Given the description of an element on the screen output the (x, y) to click on. 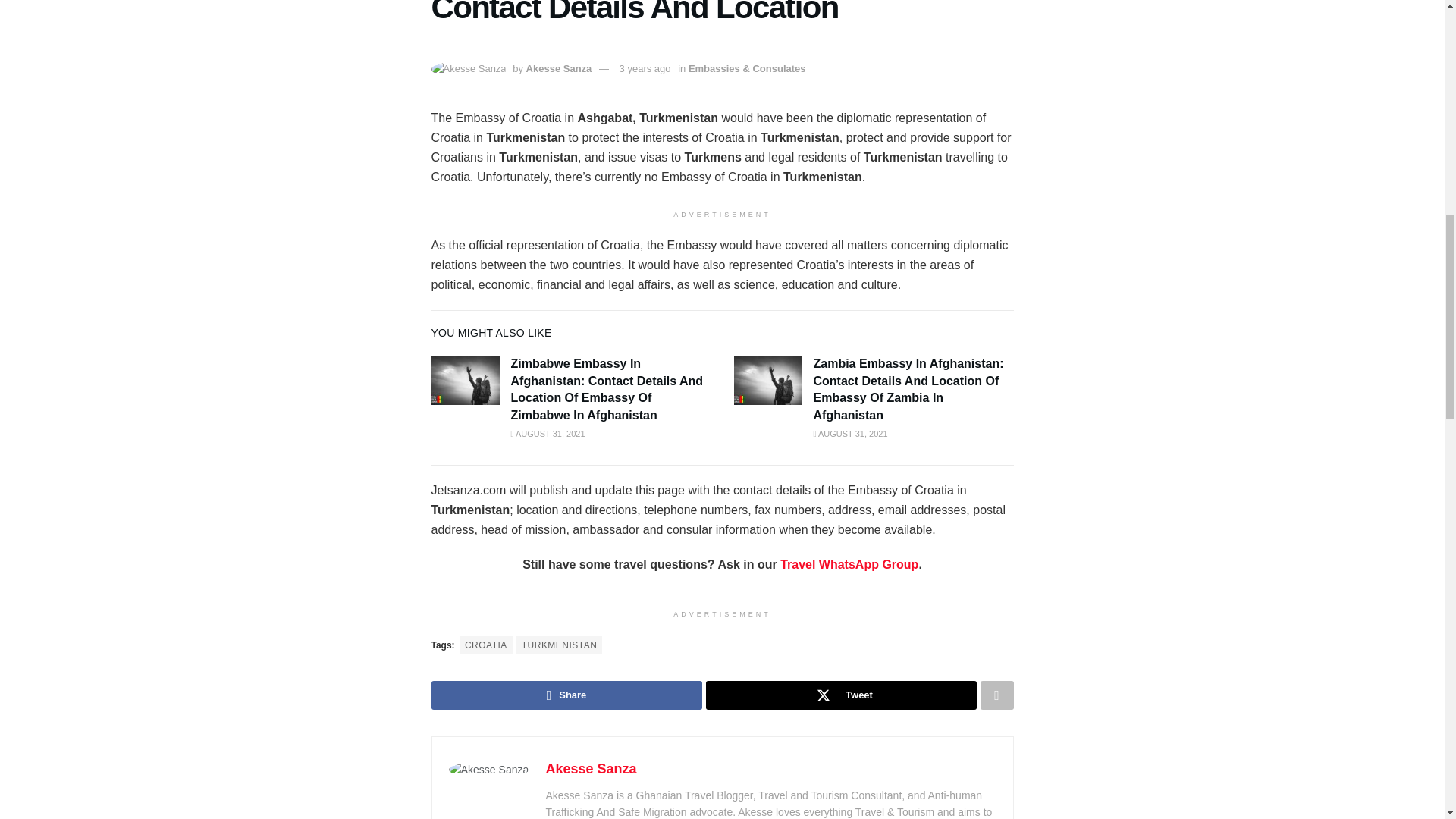
Akesse Sanza (558, 68)
AUGUST 31, 2021 (548, 433)
CROATIA (486, 645)
AUGUST 31, 2021 (849, 433)
TURKMENISTAN (559, 645)
Tweet (839, 695)
Travel WhatsApp Group (849, 563)
3 years ago (645, 68)
